Given the description of an element on the screen output the (x, y) to click on. 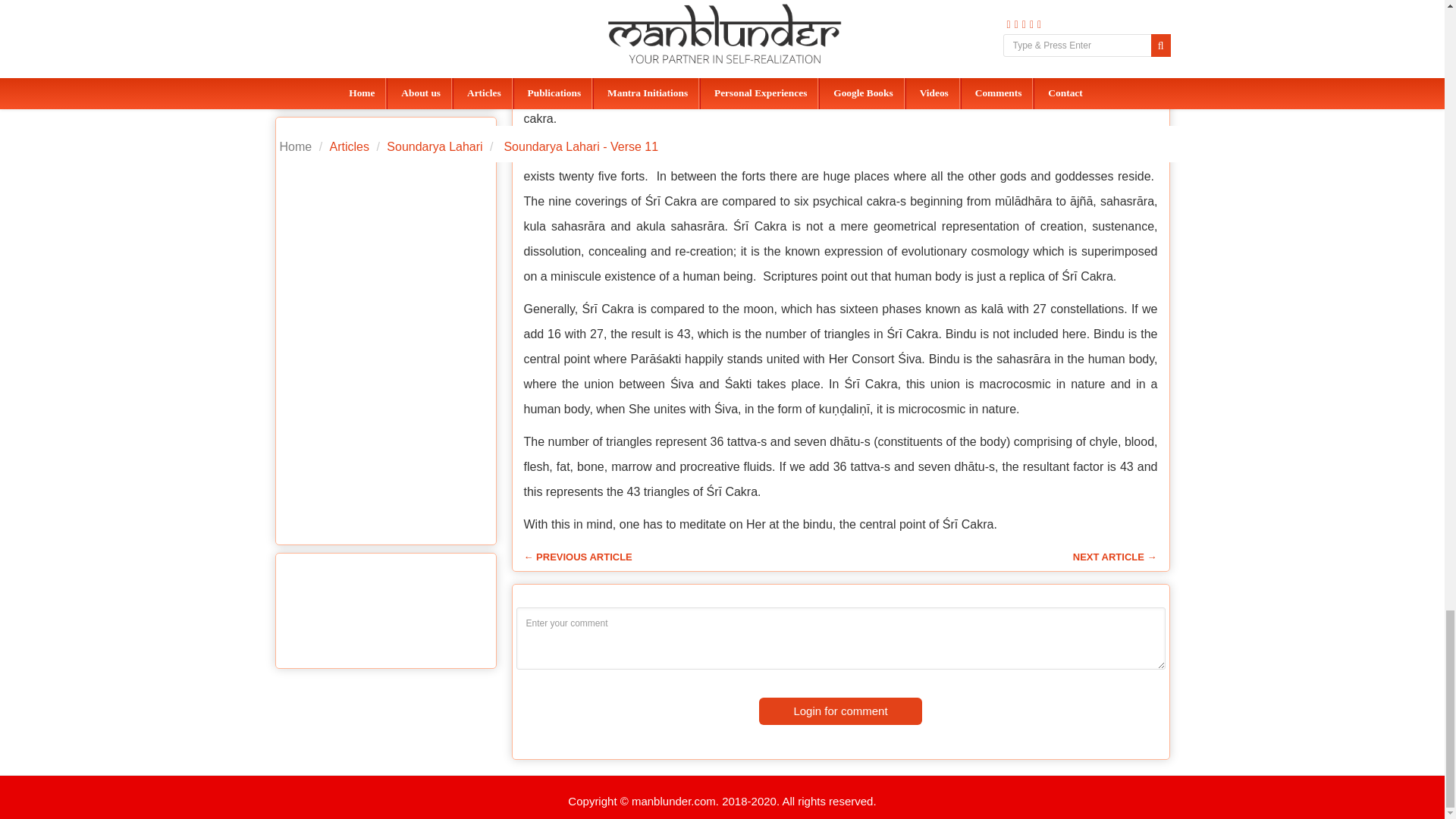
Login for comment (839, 710)
